Given the description of an element on the screen output the (x, y) to click on. 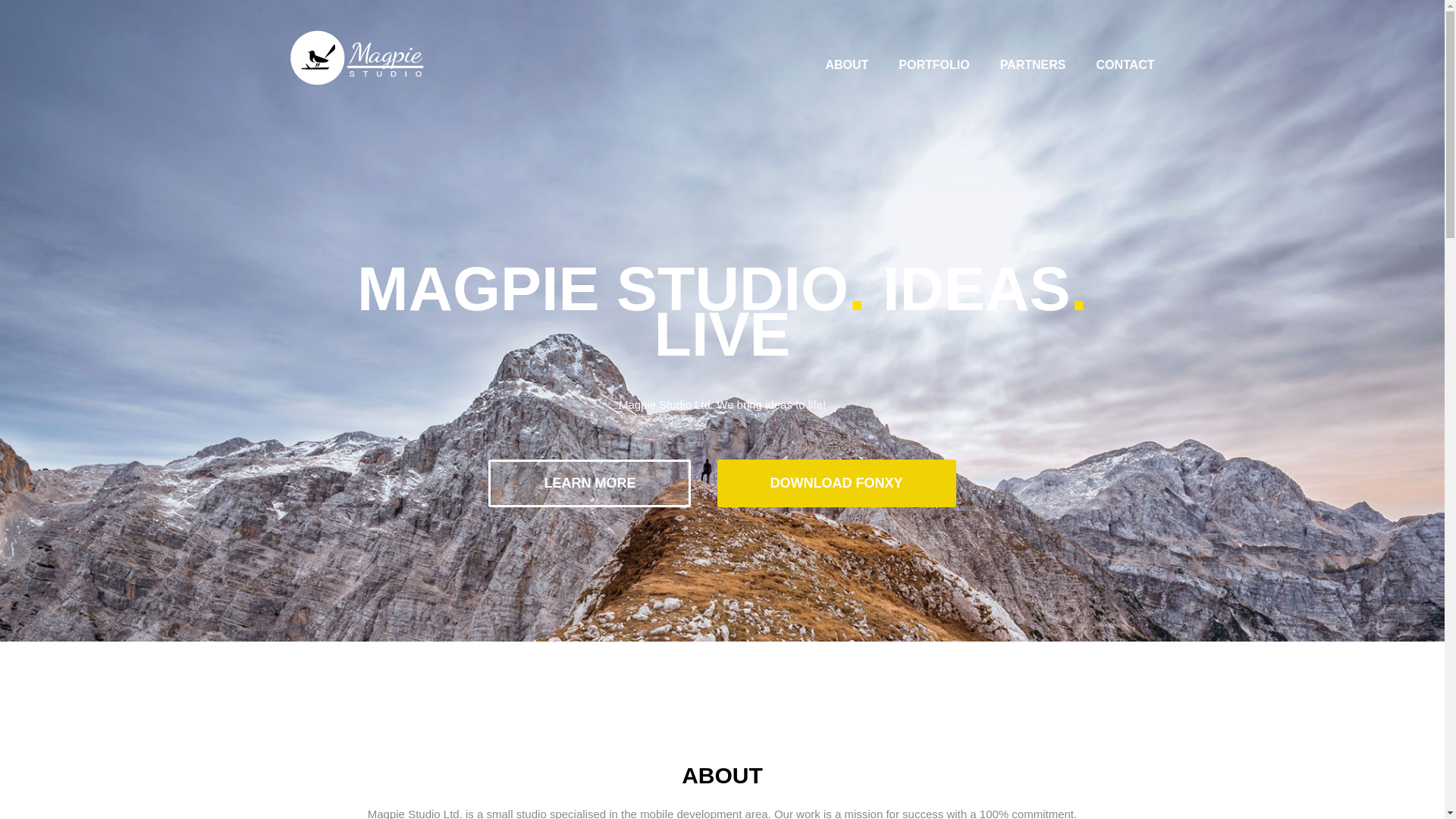
LEARN MORE (588, 482)
DOWNLOAD FONXY (836, 482)
Download Fonxy (836, 482)
PARTNERS (1032, 64)
ABOUT (846, 64)
PORTFOLIO (933, 64)
CONTACT (1125, 64)
Magpie Studio Ltd. (356, 57)
Learn more (588, 482)
